Given the description of an element on the screen output the (x, y) to click on. 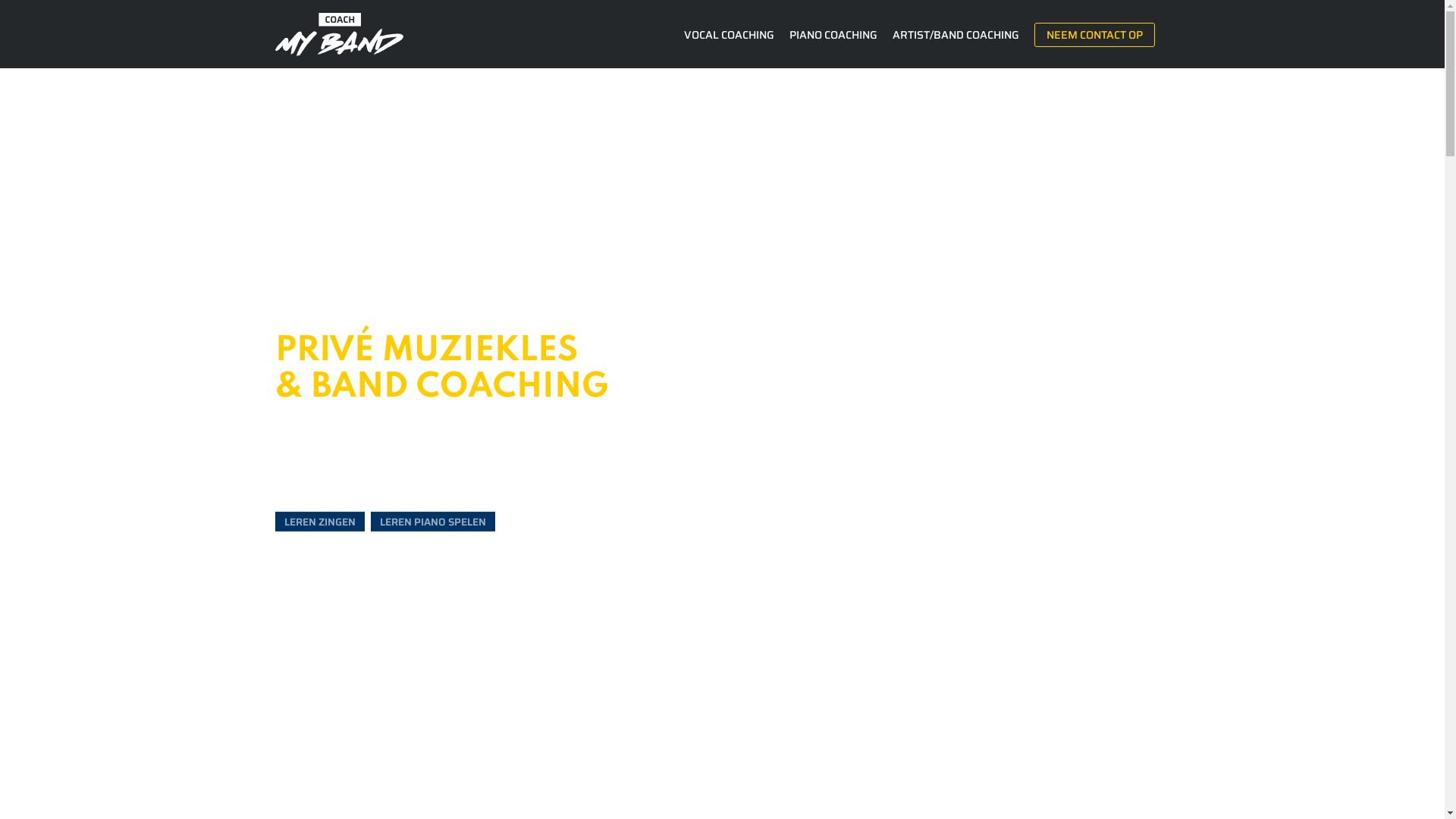
NEEM CONTACT OP Element type: text (1094, 34)
LEREN ZINGEN Element type: text (319, 521)
Home Element type: hover (338, 34)
ARTIST/BAND COACHING Element type: text (958, 34)
LEREN PIANO SPELEN Element type: text (432, 521)
VOCAL COACHING Element type: text (728, 34)
PIANO COACHING Element type: text (832, 34)
BAND COACHING Element type: text (459, 387)
